Given the description of an element on the screen output the (x, y) to click on. 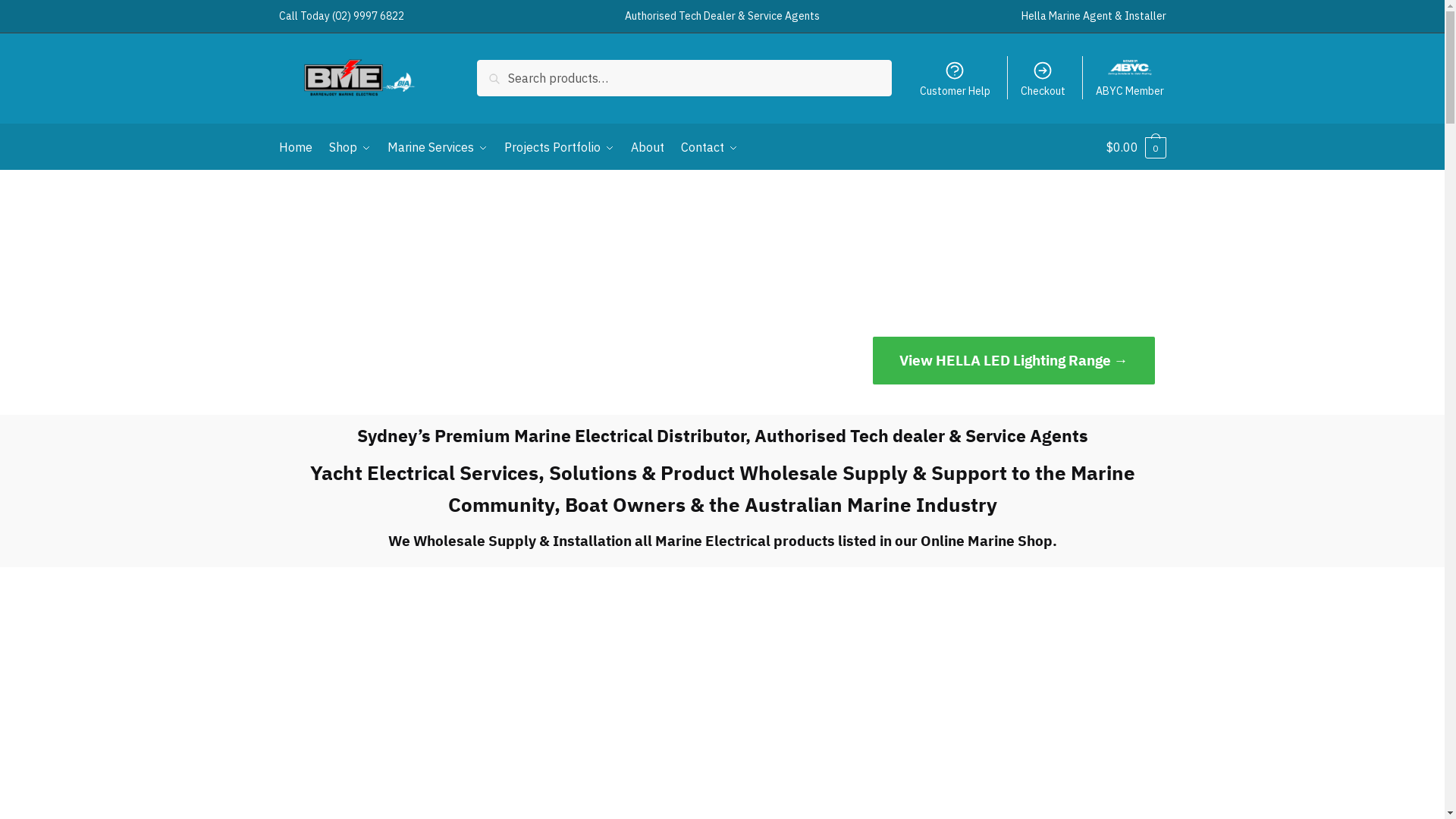
Home Element type: text (299, 146)
Projects Portfolio Element type: text (559, 146)
Marine Services Element type: text (437, 146)
$0.00 0 Element type: text (1135, 146)
About Element type: text (647, 146)
Checkout Element type: text (1043, 78)
Hella Marine Agent & Installer Element type: text (1092, 16)
Customer Help Element type: text (954, 78)
Contact Element type: text (709, 146)
ABYC Member Element type: text (1129, 78)
Search Element type: text (500, 70)
Shop Element type: text (349, 146)
